Given the description of an element on the screen output the (x, y) to click on. 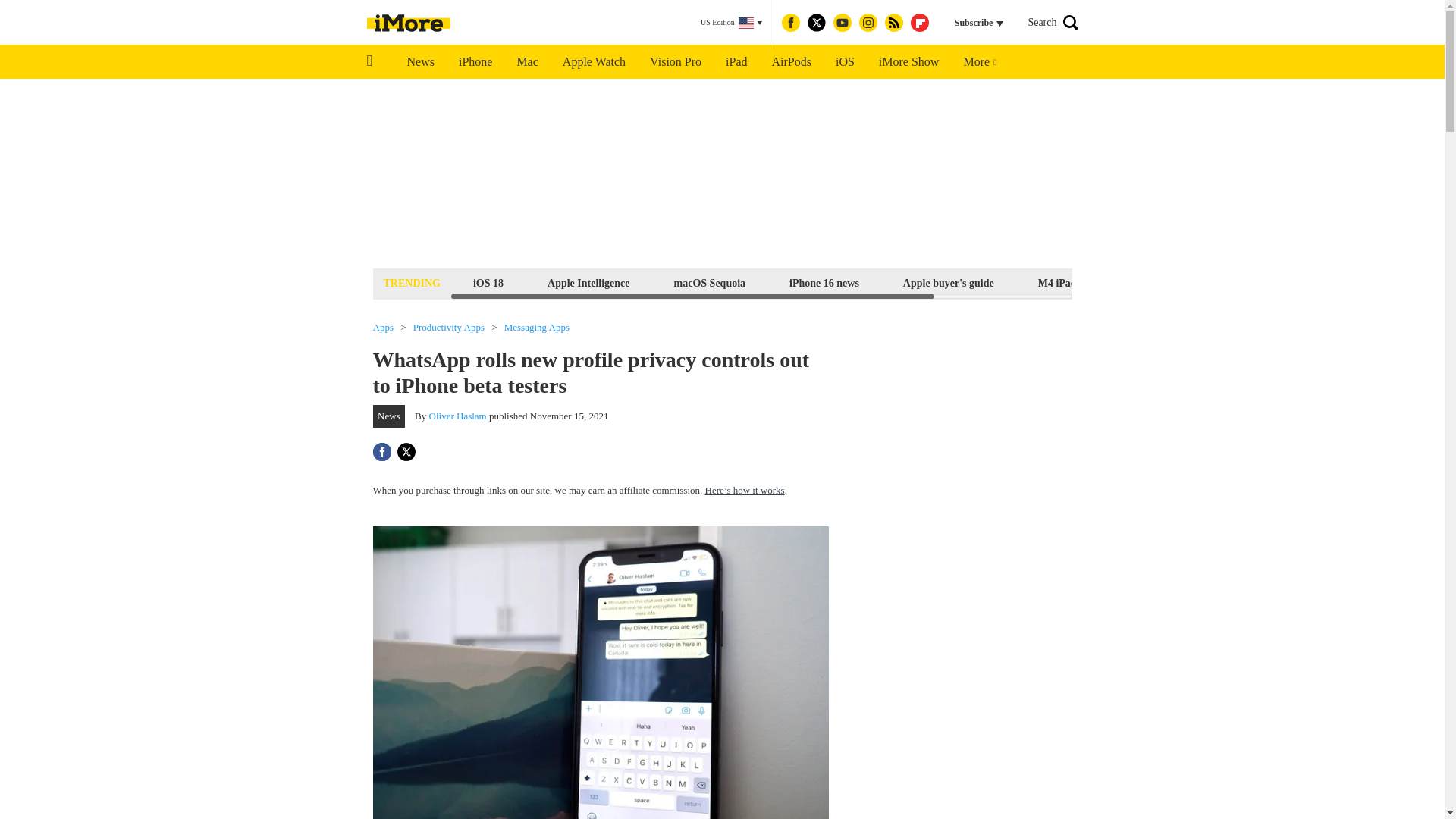
iPhone (474, 61)
Mac (526, 61)
iMore Show (909, 61)
US Edition (731, 22)
iOS (845, 61)
Apple Watch (593, 61)
Vision Pro (675, 61)
News (419, 61)
iPad (735, 61)
AirPods (792, 61)
